Given the description of an element on the screen output the (x, y) to click on. 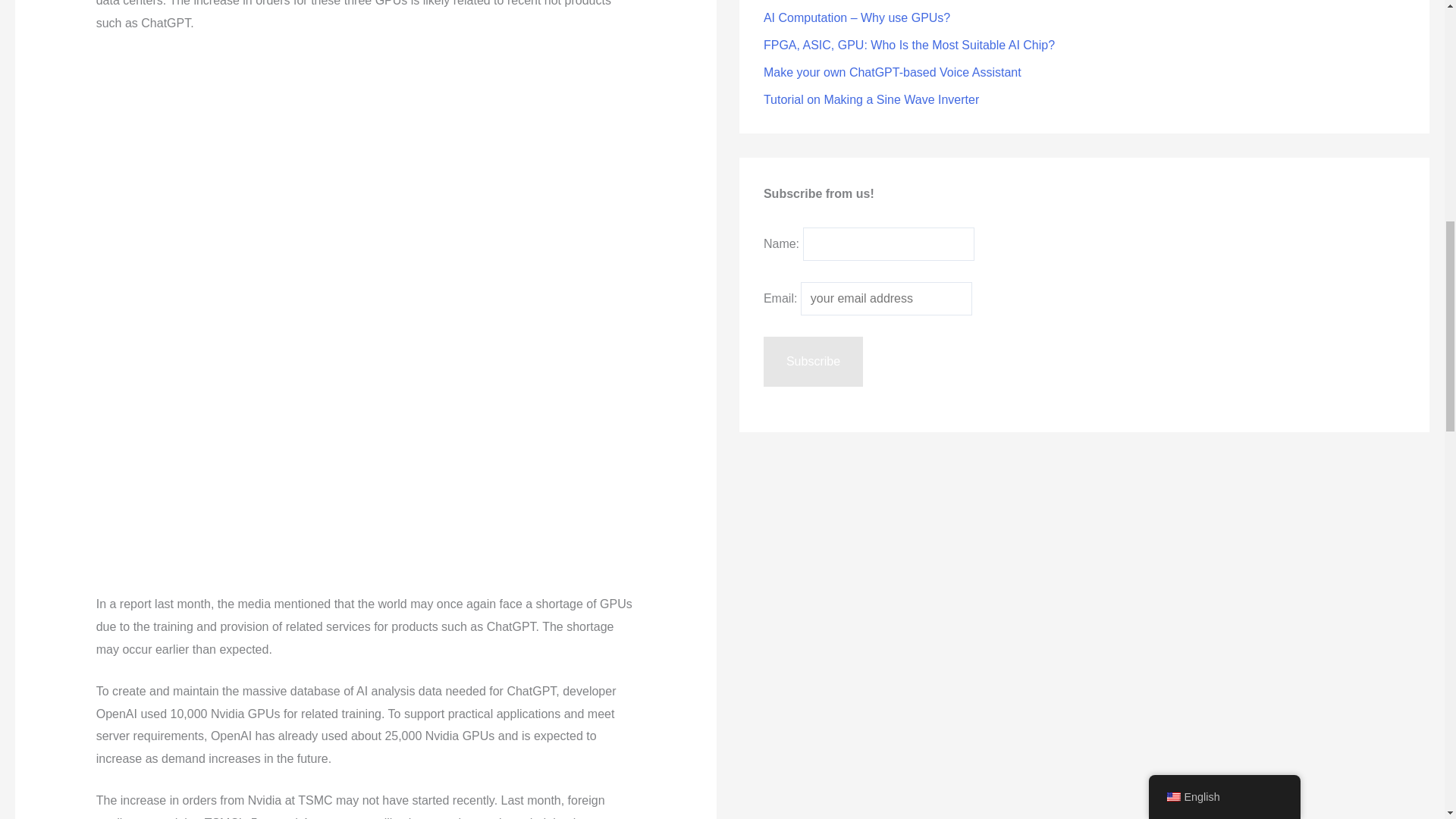
Subscribe (812, 361)
